Given the description of an element on the screen output the (x, y) to click on. 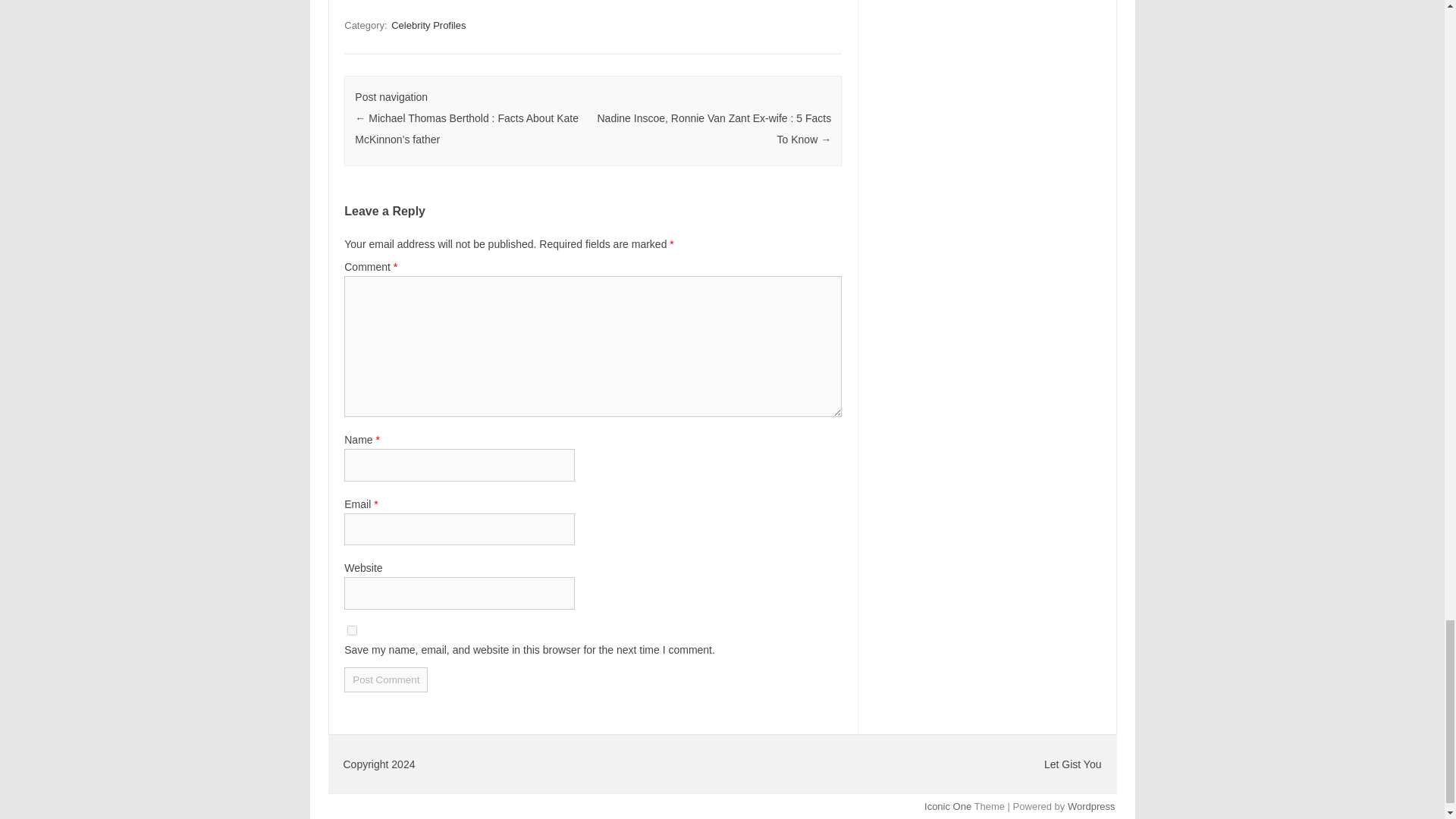
yes (351, 630)
Post Comment (385, 679)
Iconic One (947, 806)
Post Comment (385, 679)
Celebrity Profiles (428, 25)
Wordpress (1091, 806)
